Given the description of an element on the screen output the (x, y) to click on. 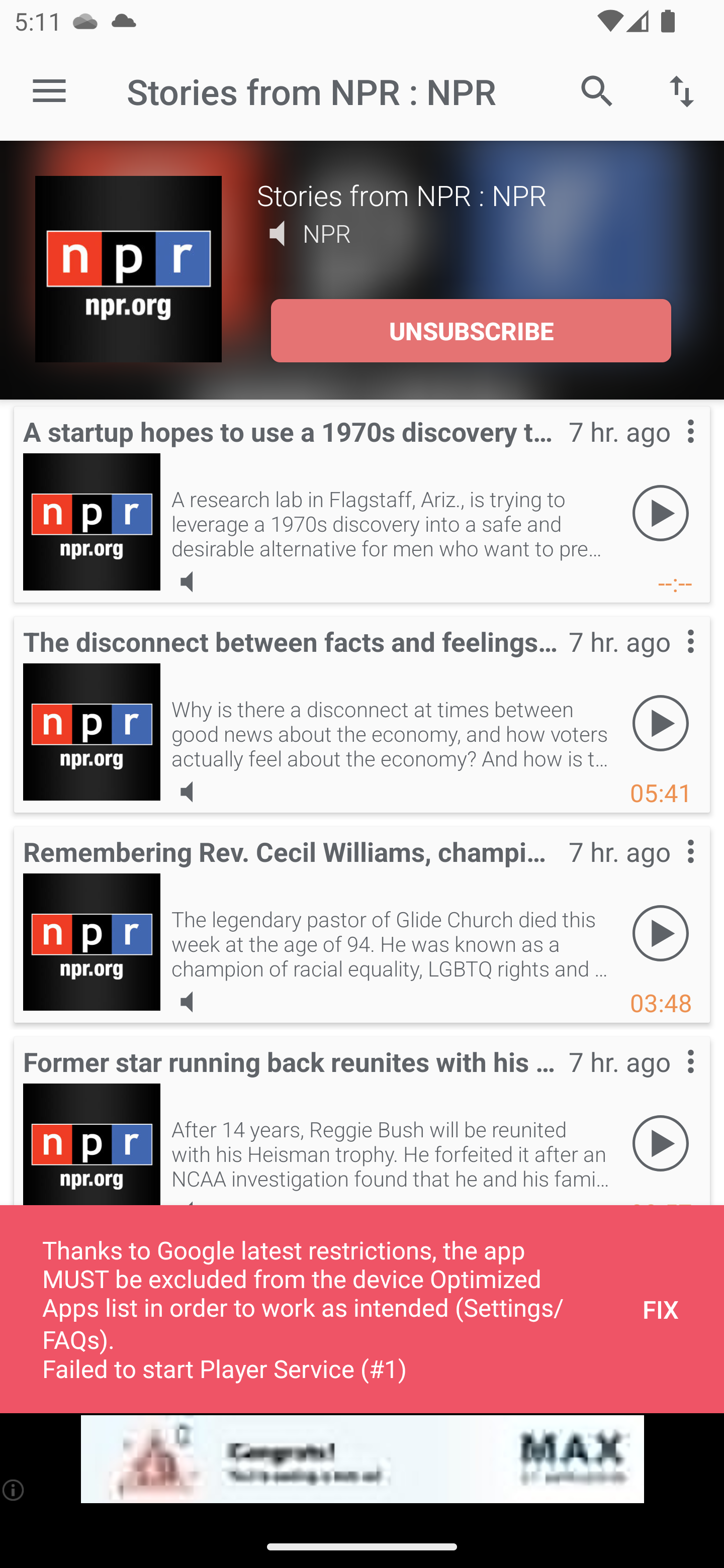
Open navigation sidebar (49, 91)
Search (597, 90)
Sort (681, 90)
UNSUBSCRIBE (470, 330)
Contextual menu (668, 451)
Play (660, 513)
Contextual menu (668, 661)
Play (660, 723)
Contextual menu (668, 870)
Play (660, 933)
Contextual menu (668, 1080)
Play (660, 1143)
FIX (660, 1308)
app-monetization (362, 1459)
(i) (14, 1489)
